Given the description of an element on the screen output the (x, y) to click on. 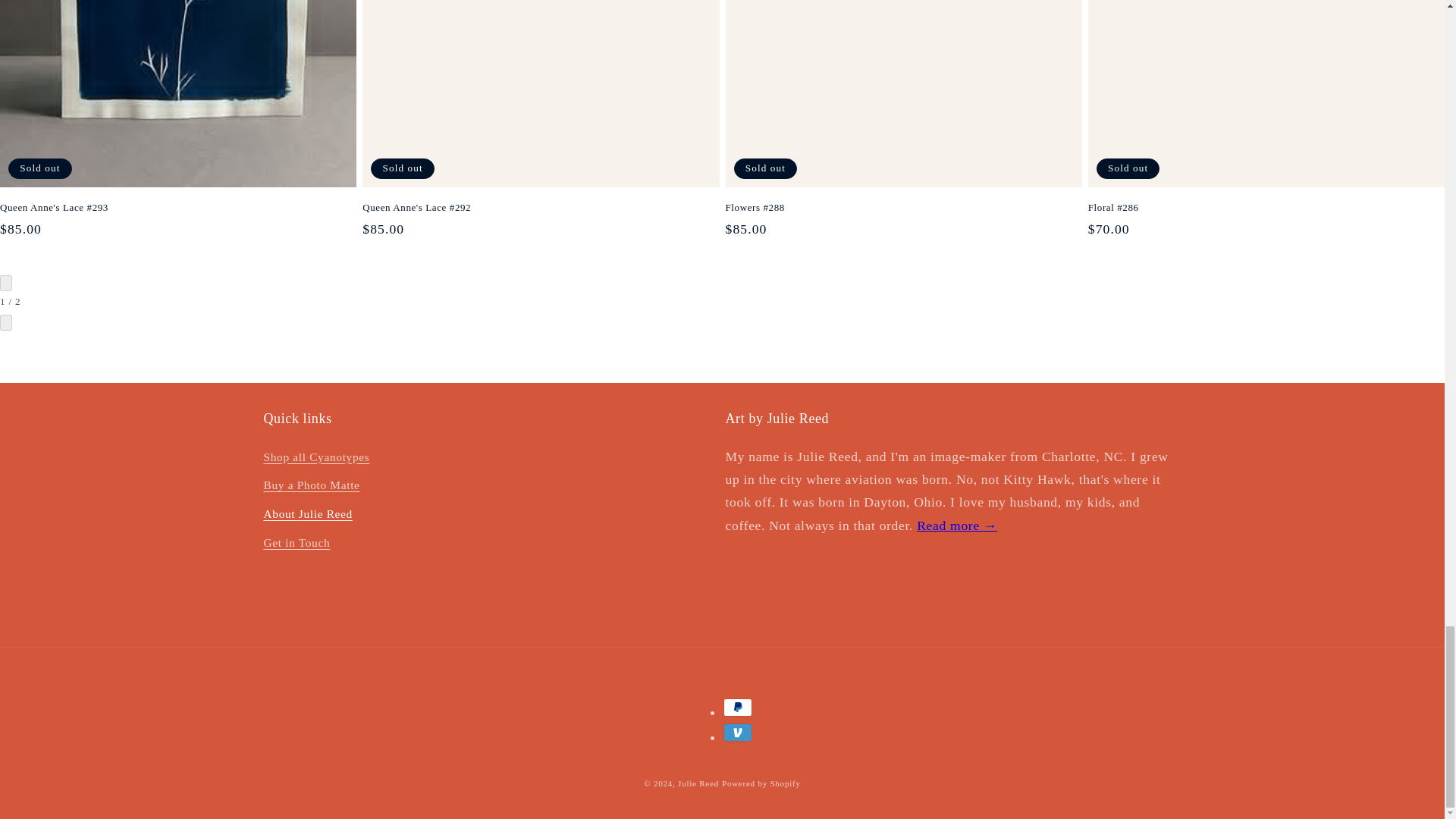
Venmo (737, 732)
About Julie Reed (957, 525)
PayPal (737, 707)
